Given the description of an element on the screen output the (x, y) to click on. 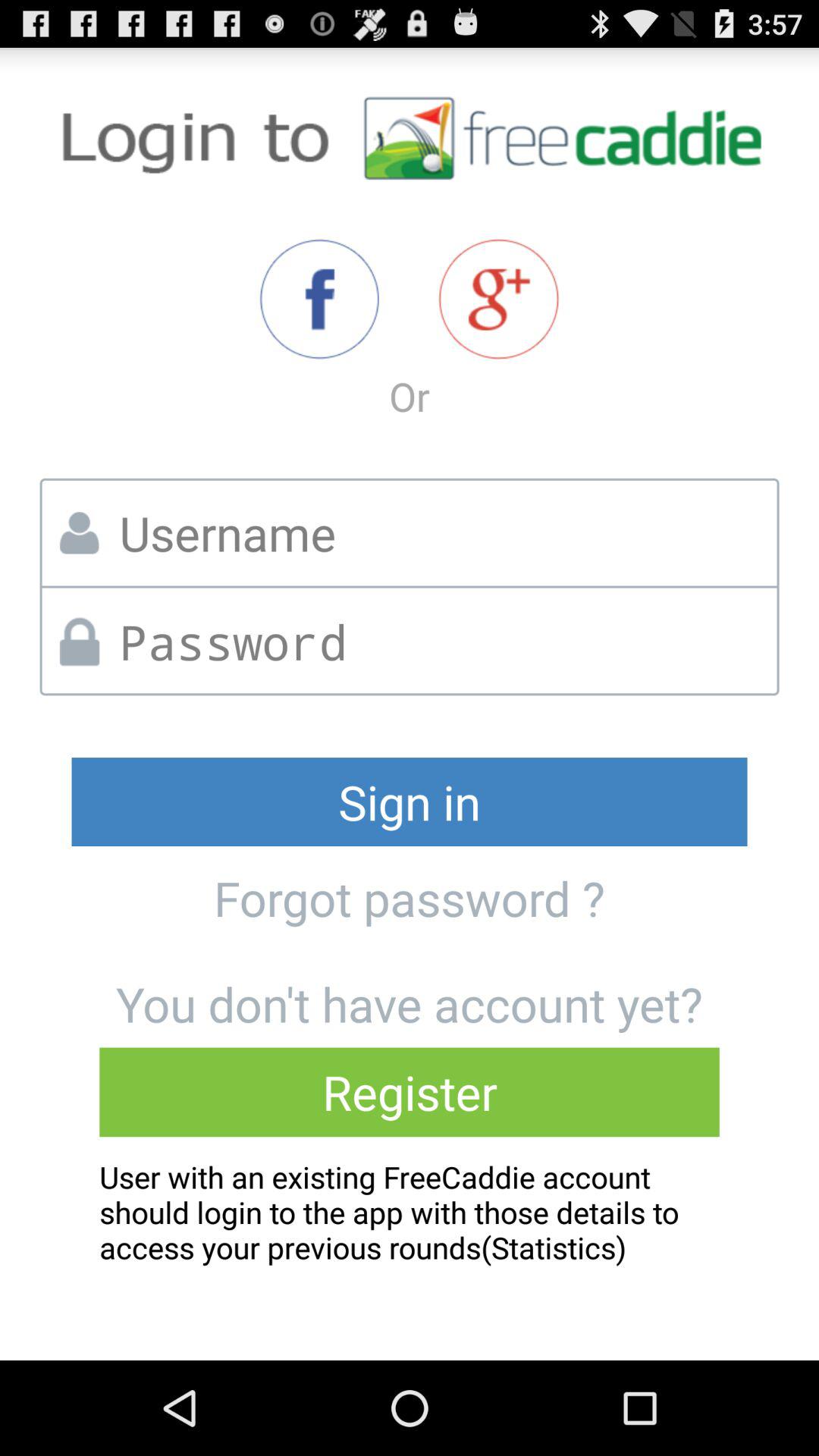
facebook login option (318, 298)
